Given the description of an element on the screen output the (x, y) to click on. 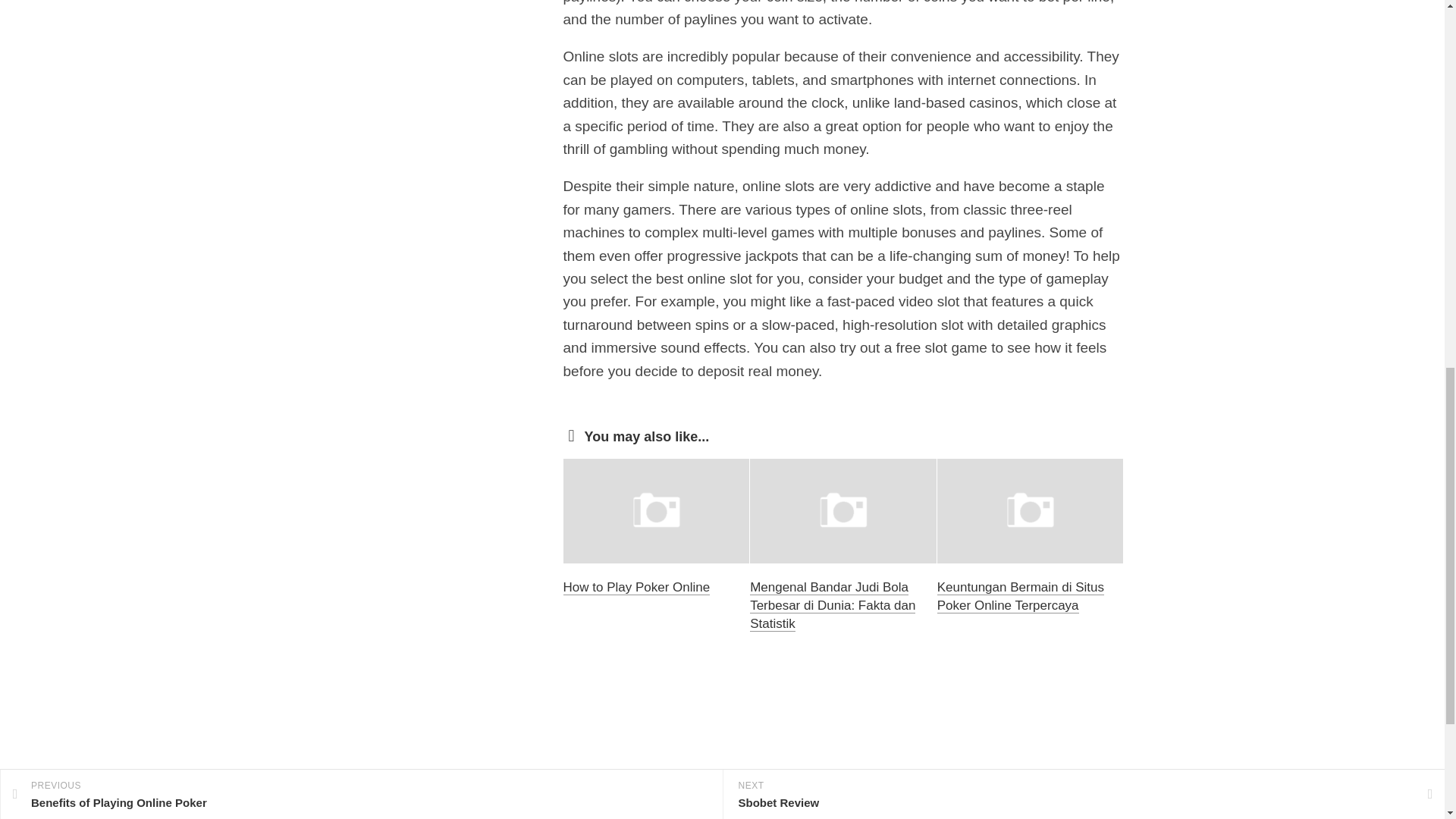
How to Play Poker Online (636, 586)
Keuntungan Bermain di Situs Poker Online Terpercaya (1020, 595)
